Given the description of an element on the screen output the (x, y) to click on. 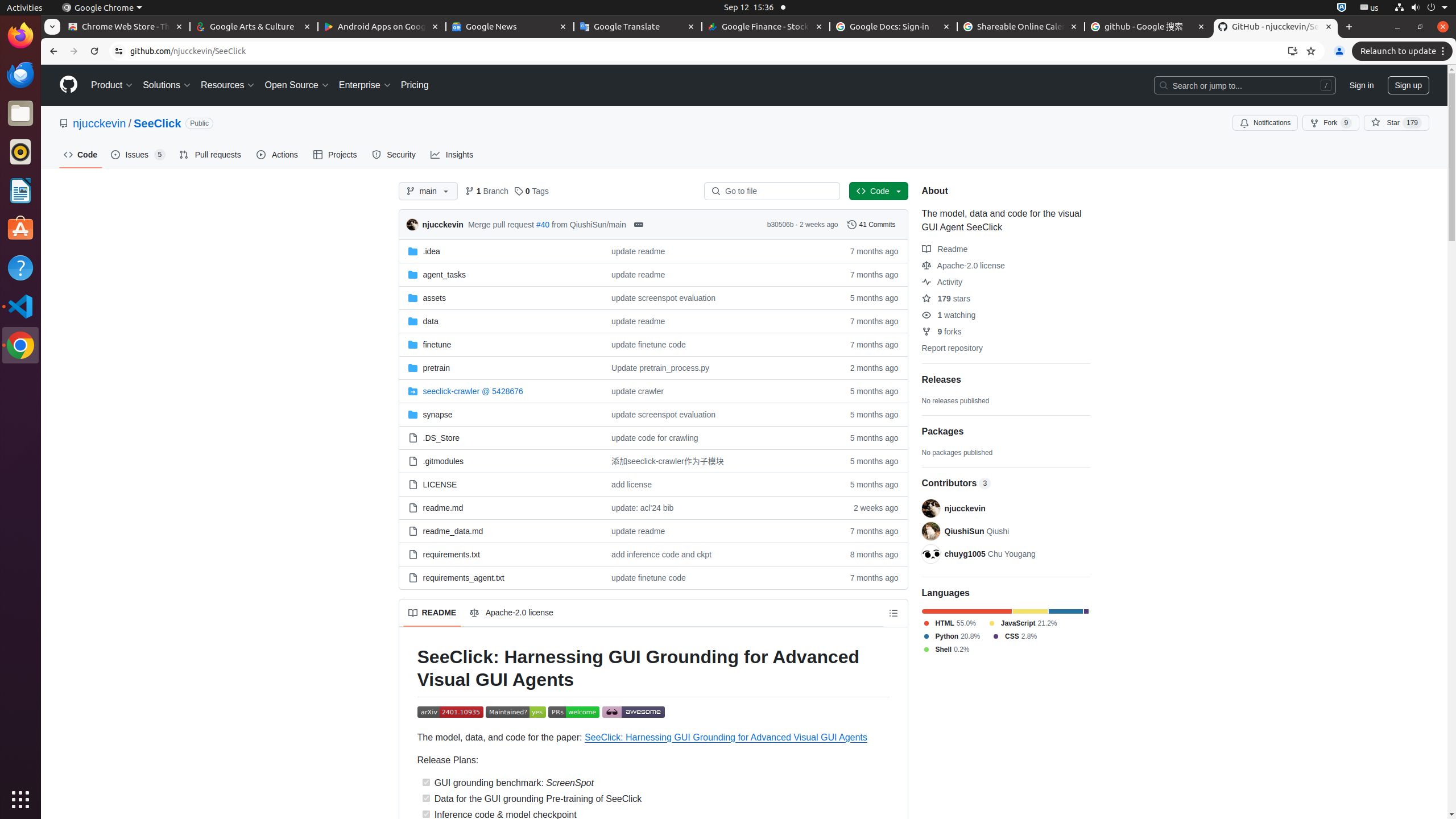
System Element type: menu (1420, 7)
CSS 2.8% Element type: link (1014, 636)
LibreOffice Writer Element type: push-button (20, 190)
Python 20.8% Element type: link (950, 636)
update code for crawling Element type: table-cell (716, 437)
